Given the description of an element on the screen output the (x, y) to click on. 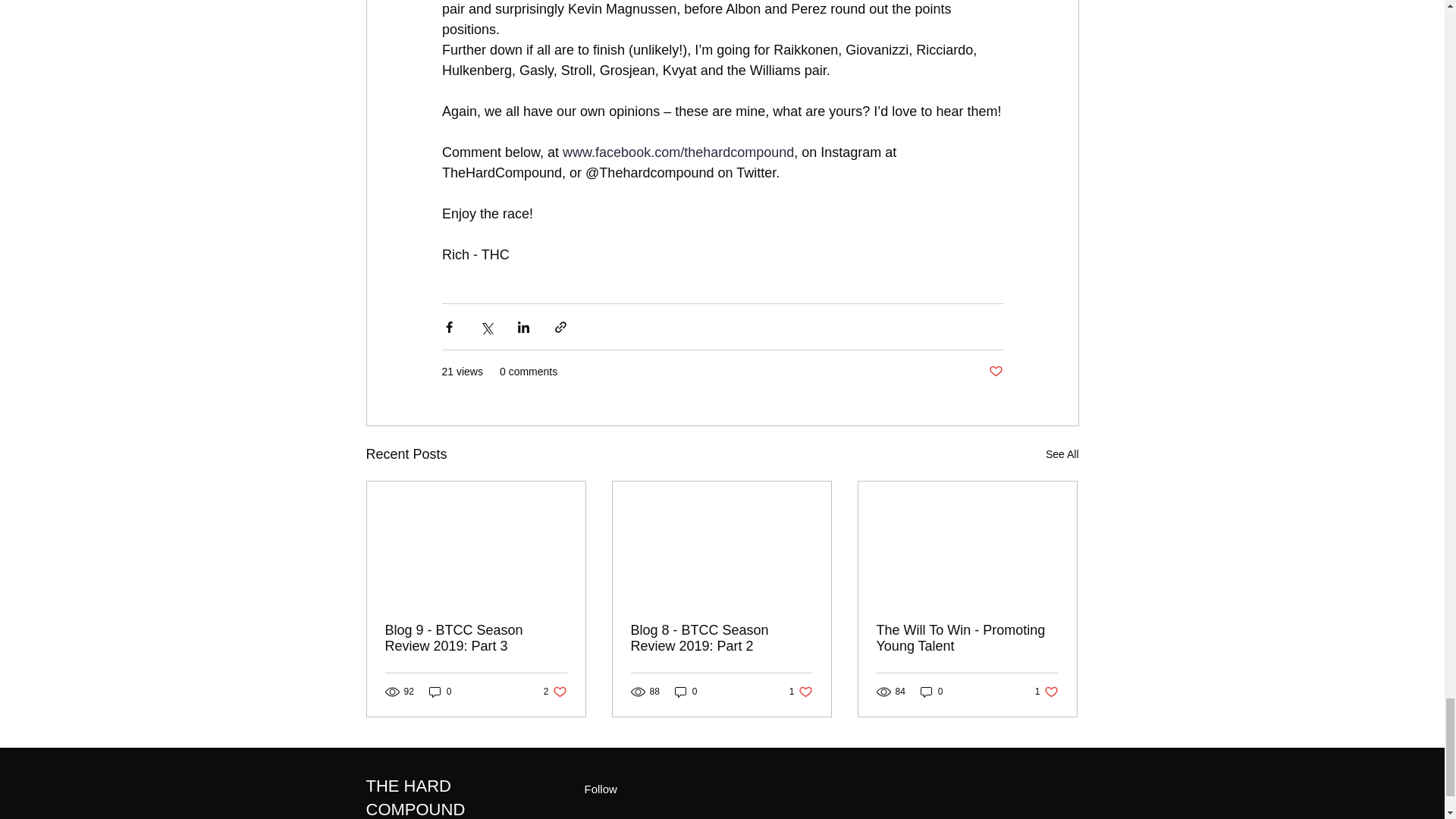
0 (685, 691)
THE HARD COMPOUND (414, 797)
Blog 8 - BTCC Season Review 2019: Part 2 (721, 638)
0 (931, 691)
See All (800, 691)
0 (1061, 454)
Post not marked as liked (440, 691)
Blog 9 - BTCC Season Review 2019: Part 3 (995, 371)
The Will To Win - Promoting Young Talent (555, 691)
